Given the description of an element on the screen output the (x, y) to click on. 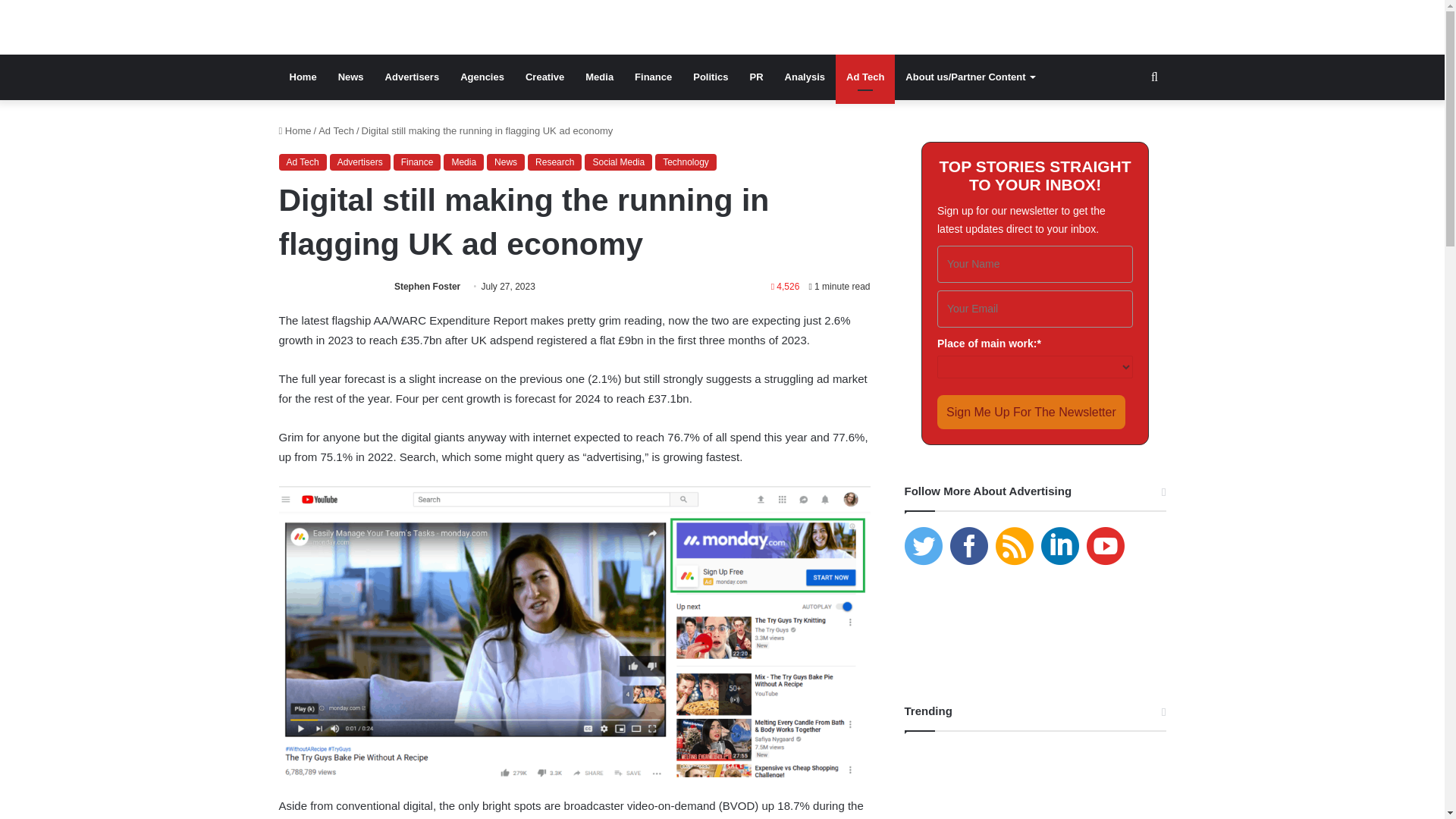
Home (295, 130)
Media (463, 161)
Agencies (482, 76)
Ad Tech (335, 130)
News (350, 76)
Stephen Foster (427, 286)
Technology (685, 161)
Creative (545, 76)
Ad Tech (865, 76)
More About Advertising (336, 27)
Advertisers (411, 76)
Finance (653, 76)
Advertisers (360, 161)
Politics (710, 76)
Media (599, 76)
